Given the description of an element on the screen output the (x, y) to click on. 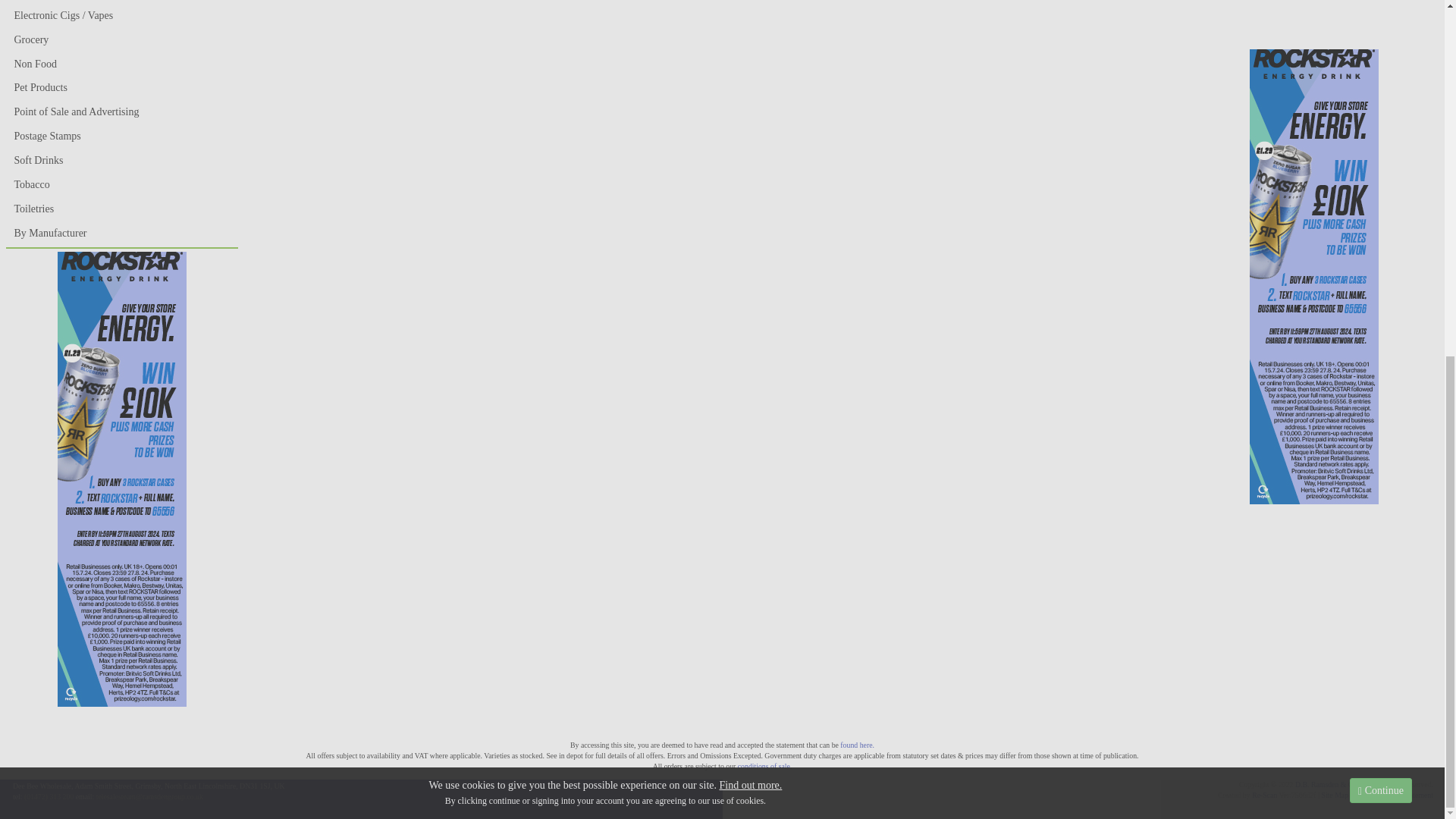
View Products in the Grocery Group (121, 39)
View Products in the Non Food Group (121, 64)
